Given the description of an element on the screen output the (x, y) to click on. 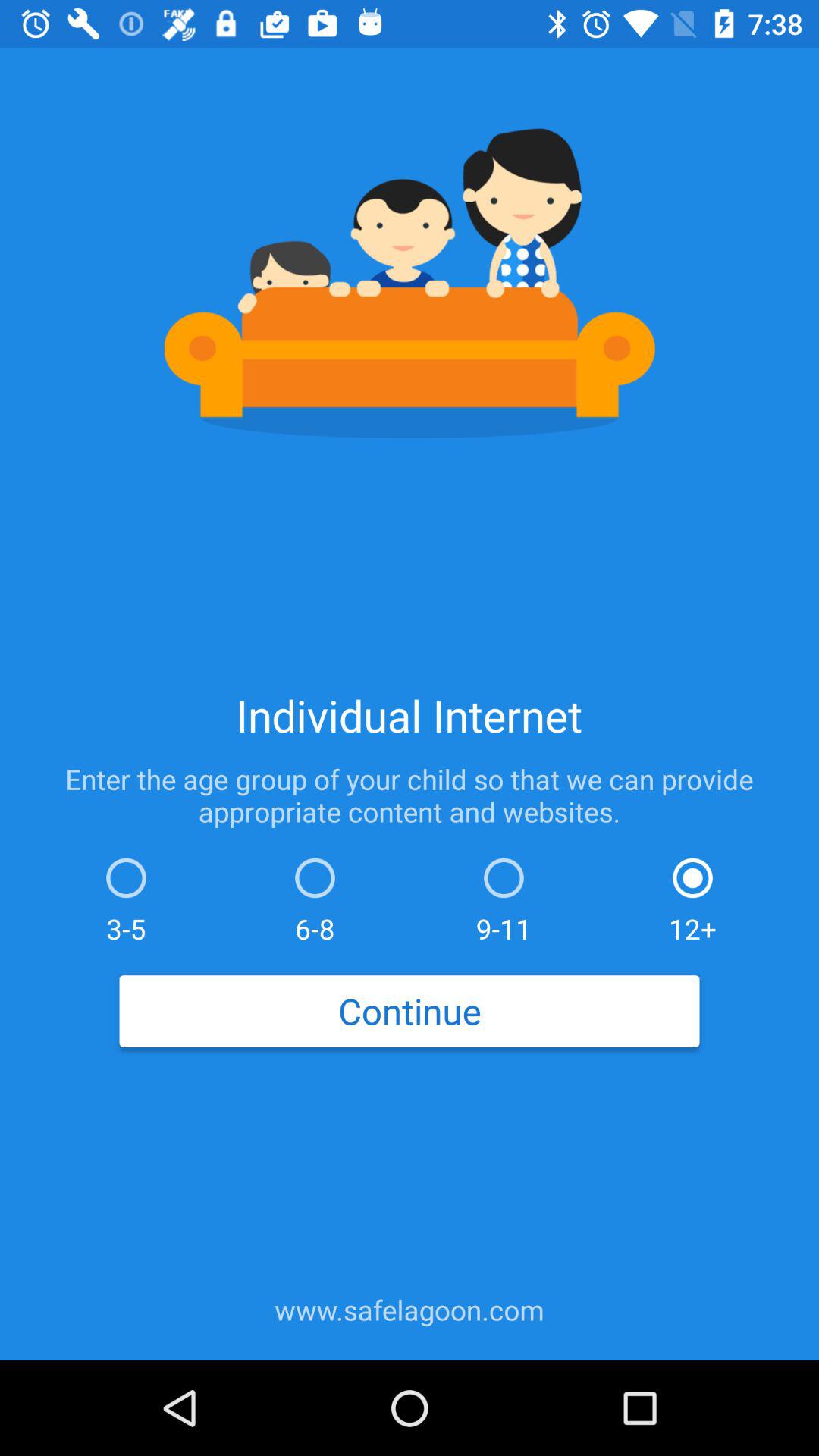
flip until 3-5 (125, 896)
